Given the description of an element on the screen output the (x, y) to click on. 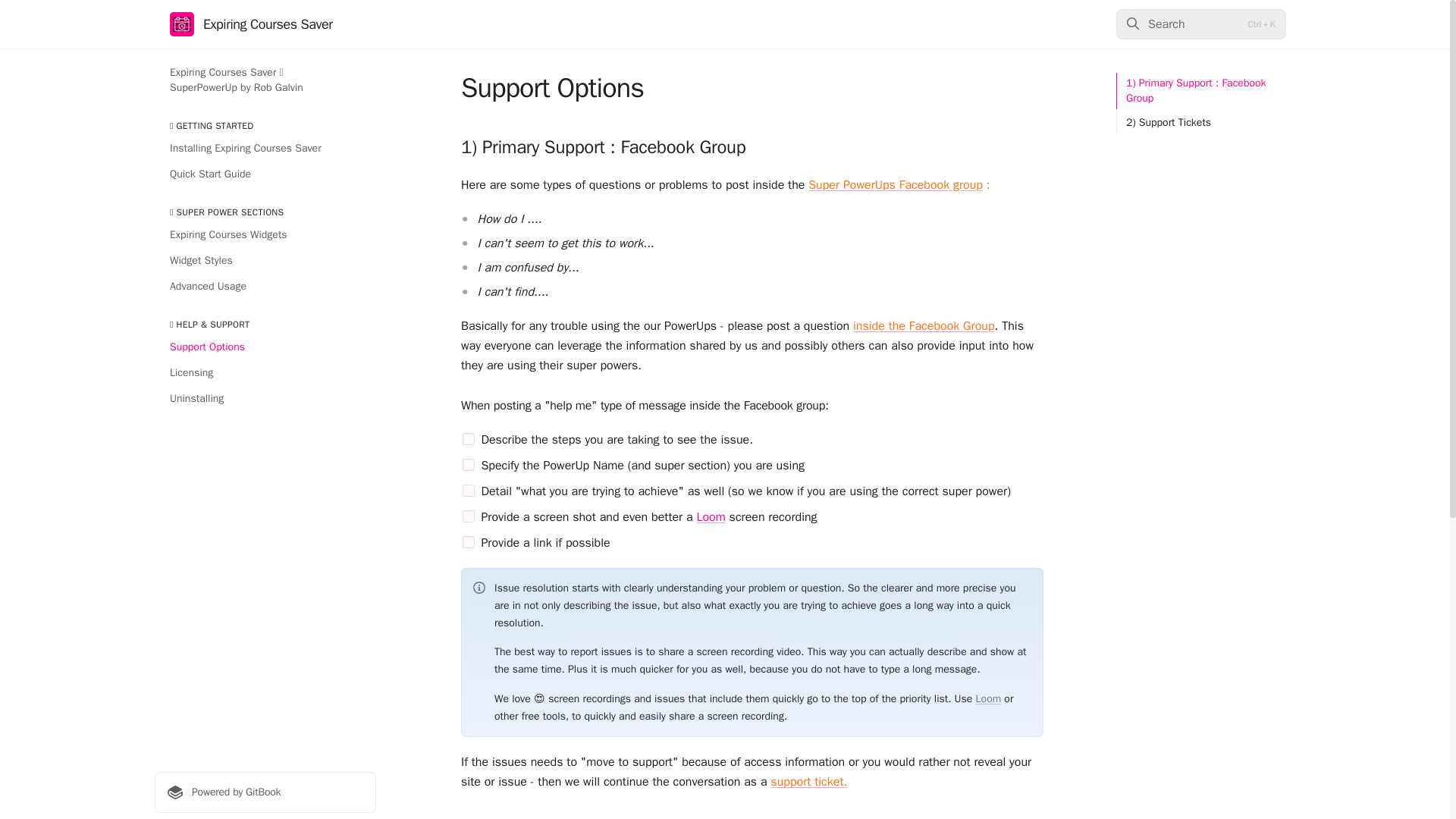
Powered by GitBook (264, 792)
inside the Facebook Group (923, 325)
on (468, 464)
support ticket. (808, 781)
Quick Start Guide (264, 174)
Widget Styles (264, 260)
Licensing (264, 372)
Uninstalling (264, 398)
on (468, 516)
on (468, 439)
